Given the description of an element on the screen output the (x, y) to click on. 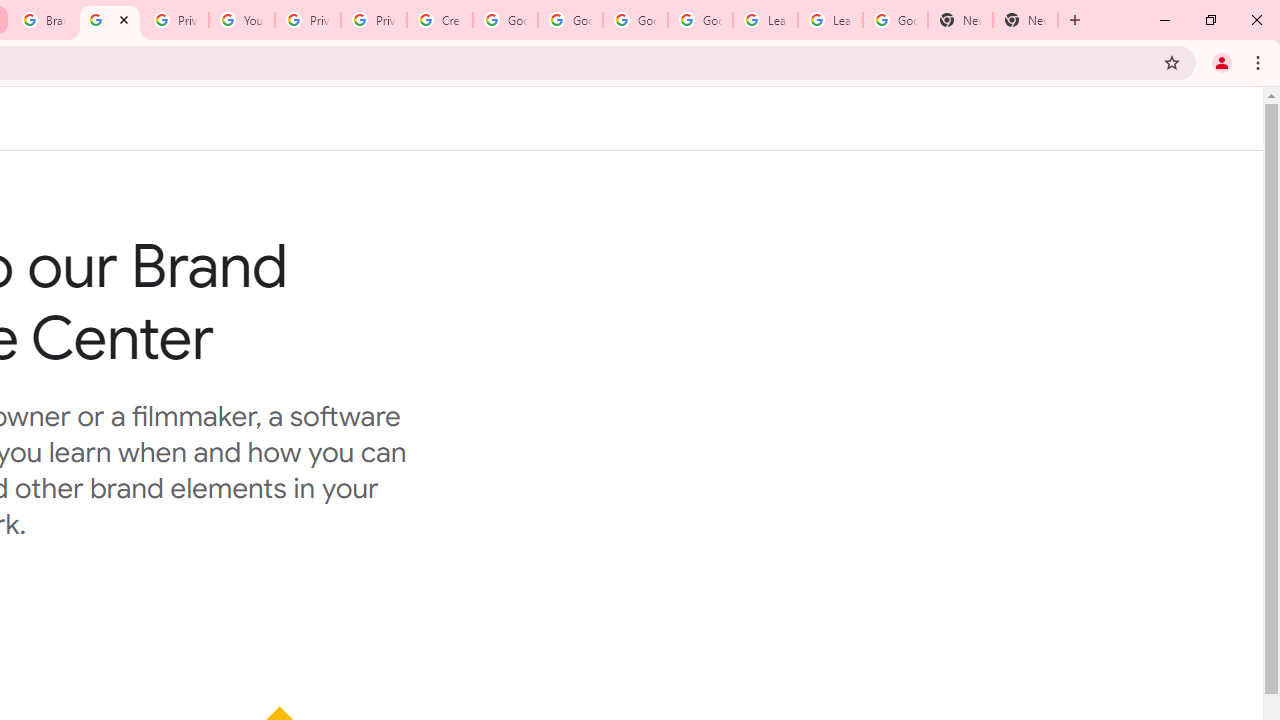
Brand Resource Center (43, 20)
New Tab (1025, 20)
Google Account Help (569, 20)
New Tab (960, 20)
Google Account Help (700, 20)
Google Account (894, 20)
Google Account Help (635, 20)
